Given the description of an element on the screen output the (x, y) to click on. 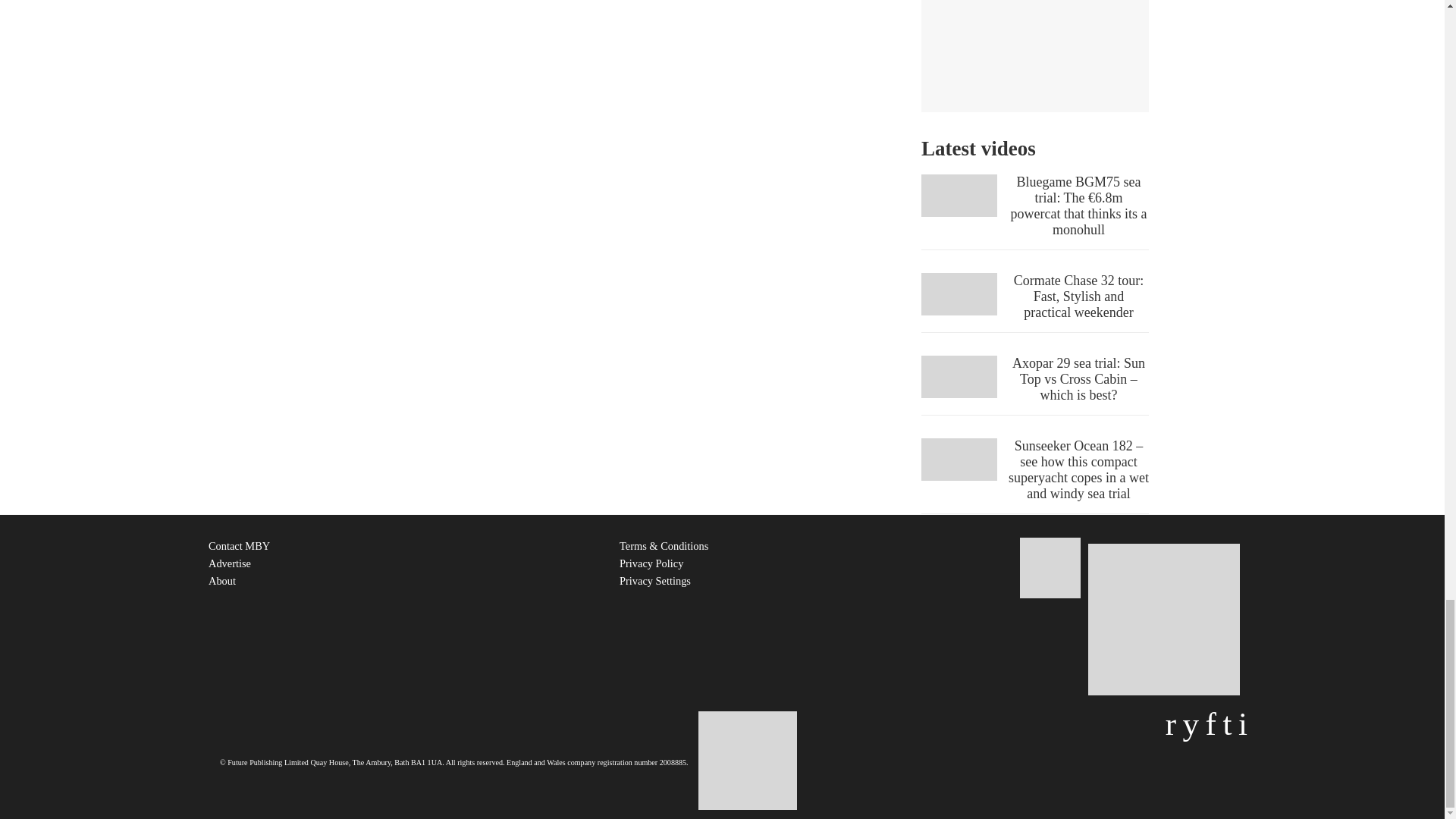
Cormate Chase 32 tour: Fast, Stylish and practical weekender (1034, 302)
